Given the description of an element on the screen output the (x, y) to click on. 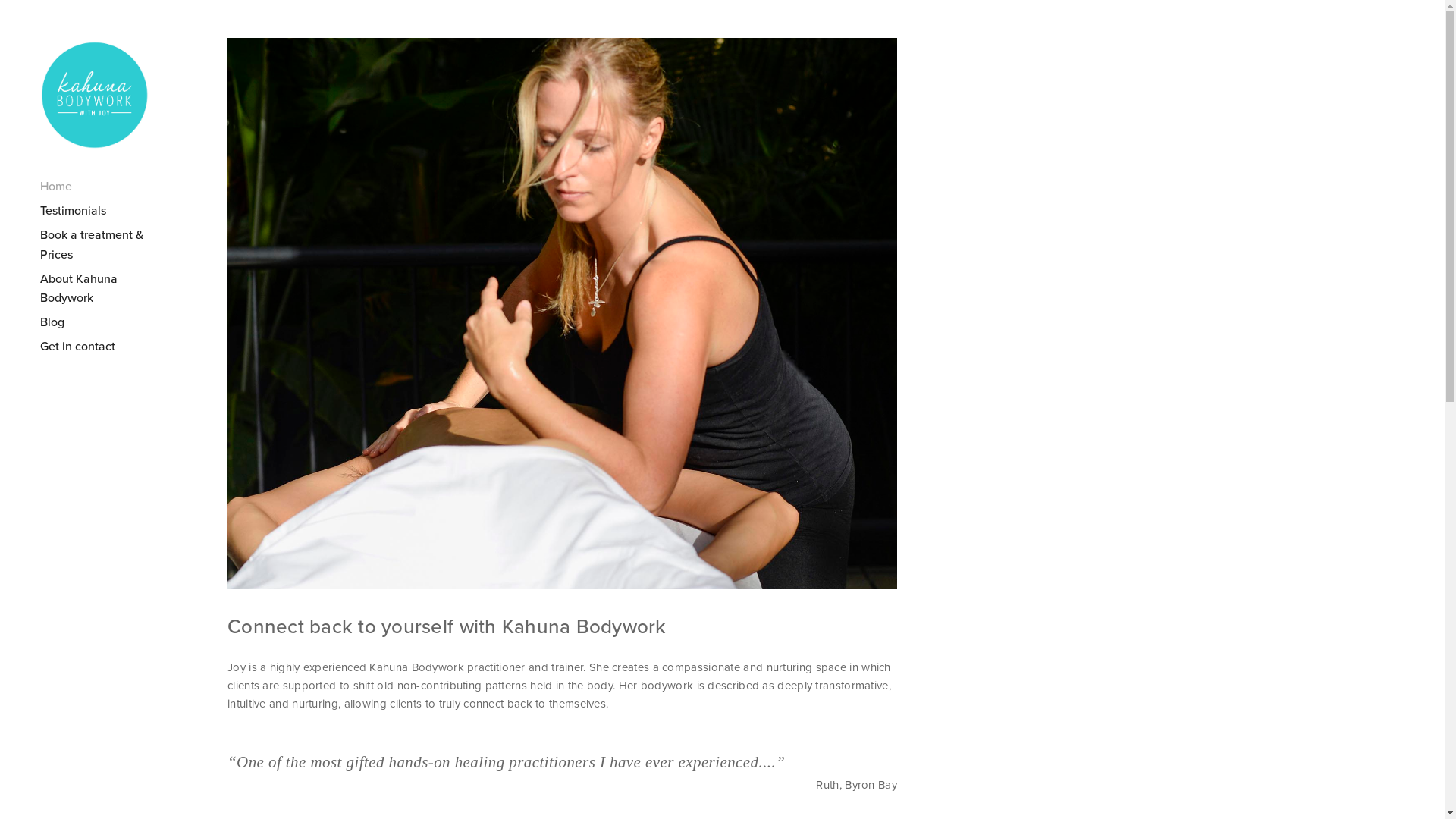
Home Element type: text (105, 186)
Book a treatment & Prices Element type: text (105, 244)
Blog Element type: text (105, 322)
Testimonials Element type: text (105, 210)
Get in contact Element type: text (105, 346)
About Kahuna Bodywork Element type: text (105, 288)
